Given the description of an element on the screen output the (x, y) to click on. 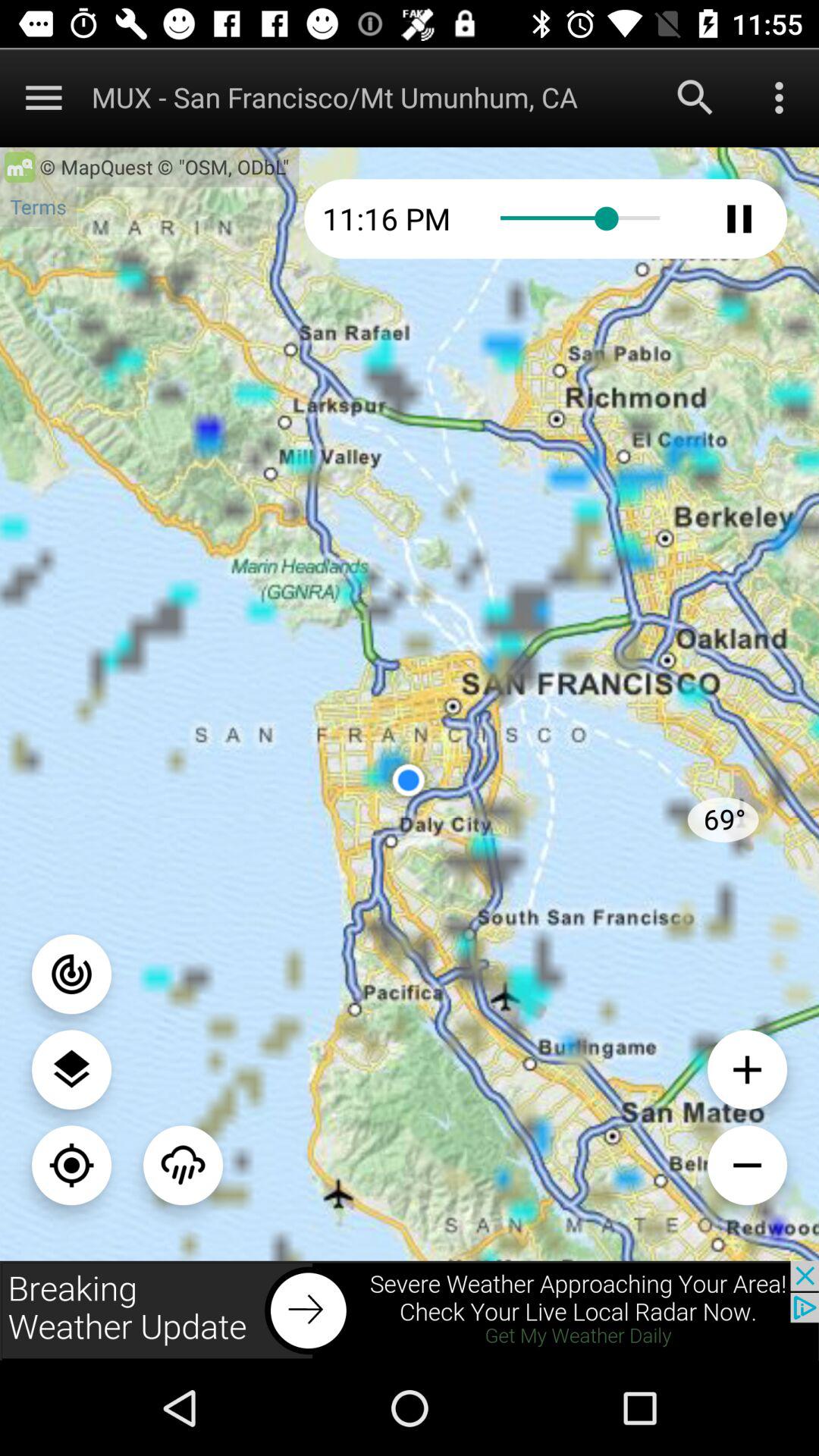
less than symbol (747, 1165)
